Given the description of an element on the screen output the (x, y) to click on. 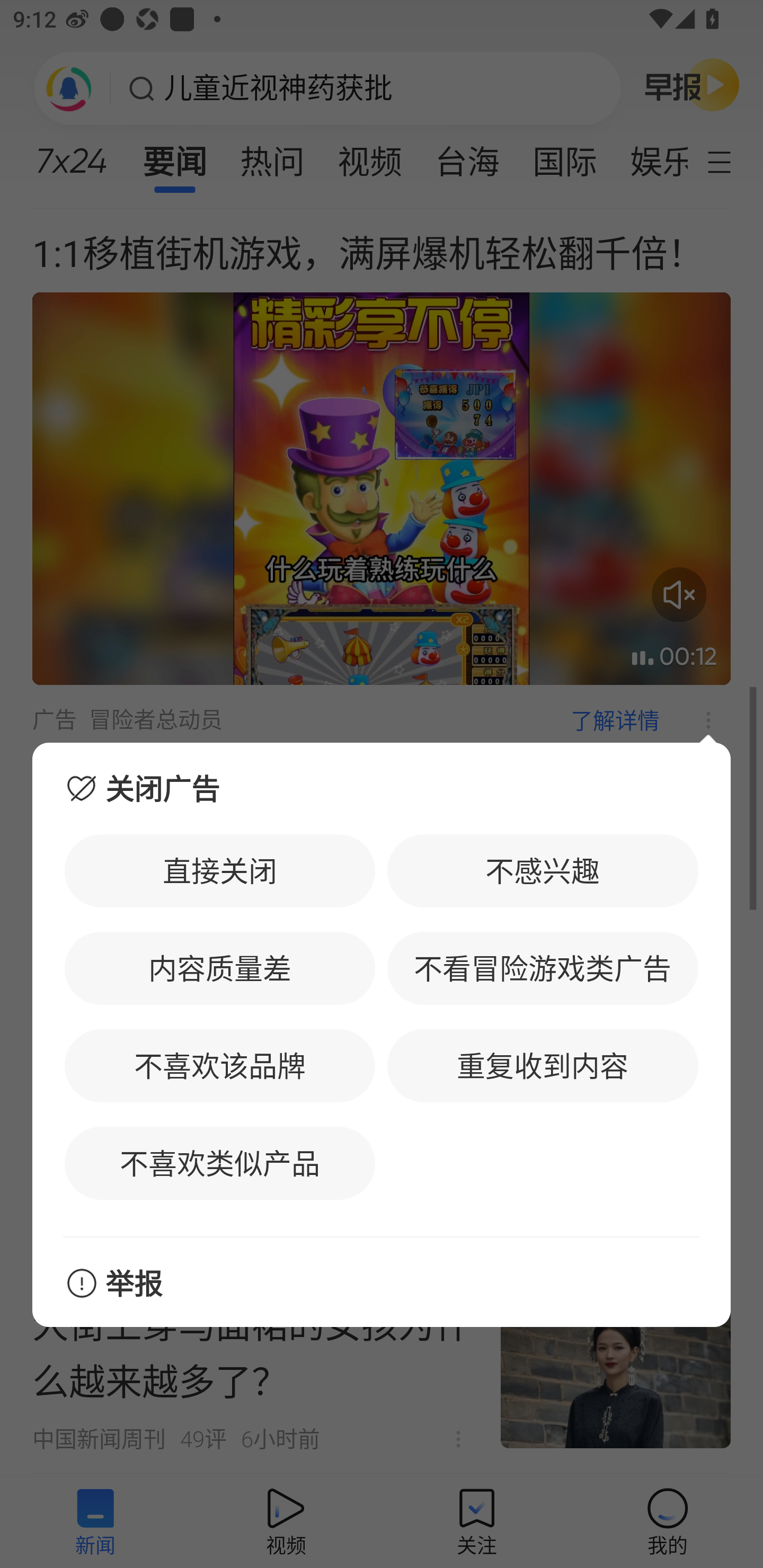
直接关闭 (219, 870)
不感兴趣 (542, 870)
内容质量差 (219, 968)
不看冒险游戏类广告 (542, 968)
不喜欢该品牌 (219, 1065)
重复收到内容 (542, 1065)
不喜欢类似产品 (219, 1163)
举报 (381, 1281)
